Given the description of an element on the screen output the (x, y) to click on. 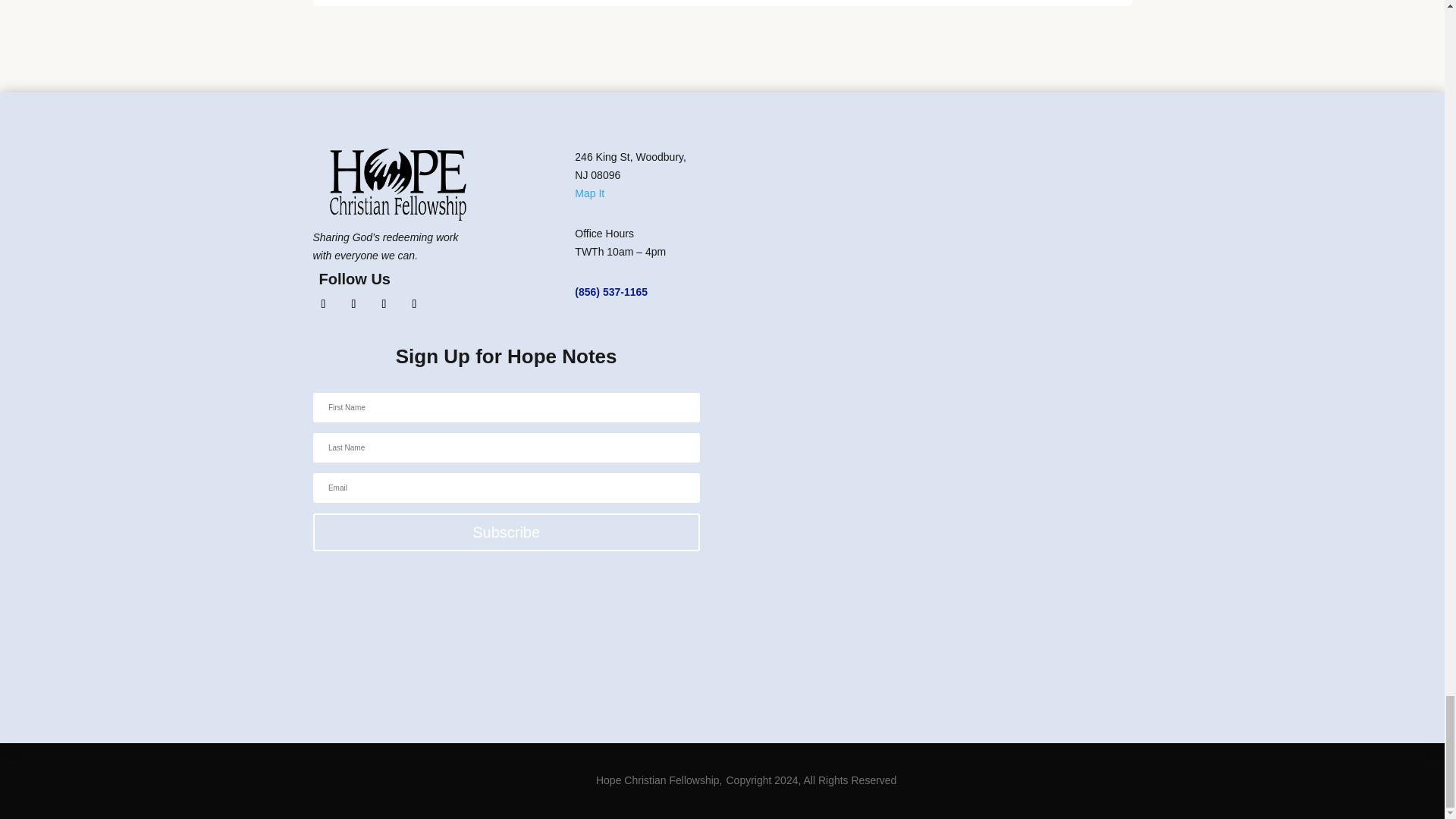
hope-christian-fellowship-woodburty (397, 184)
Follow on Facebook (322, 303)
Follow on Youtube (383, 303)
Follow on Google (413, 303)
Follow on Instagram (352, 303)
